Given the description of an element on the screen output the (x, y) to click on. 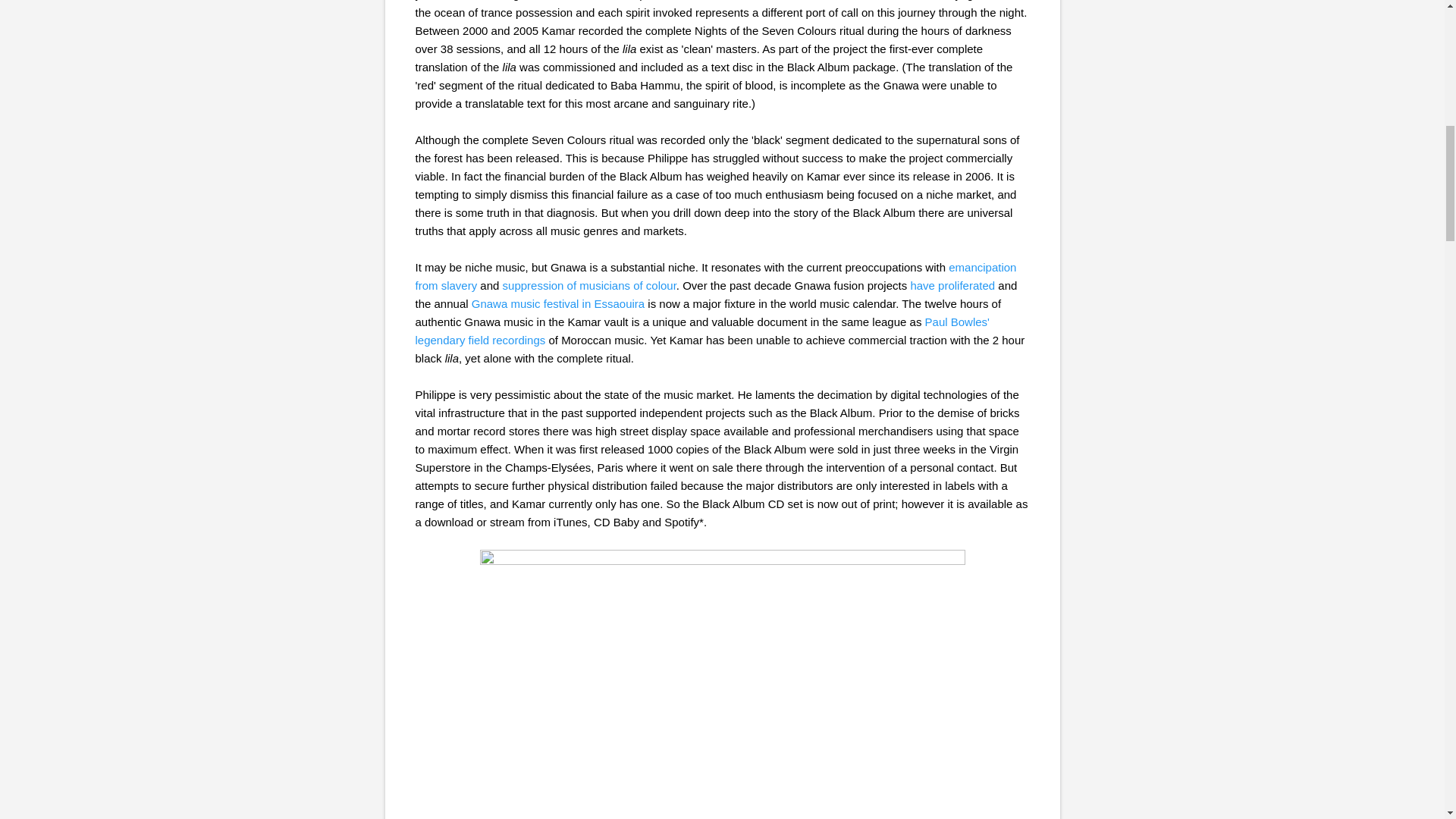
Gnawa music festival in Essaouira (558, 303)
emancipation from slavery (715, 276)
Paul Bowles' legendary field recordings (702, 330)
have proliferated (952, 285)
suppression of musicians of colour (589, 285)
